Given the description of an element on the screen output the (x, y) to click on. 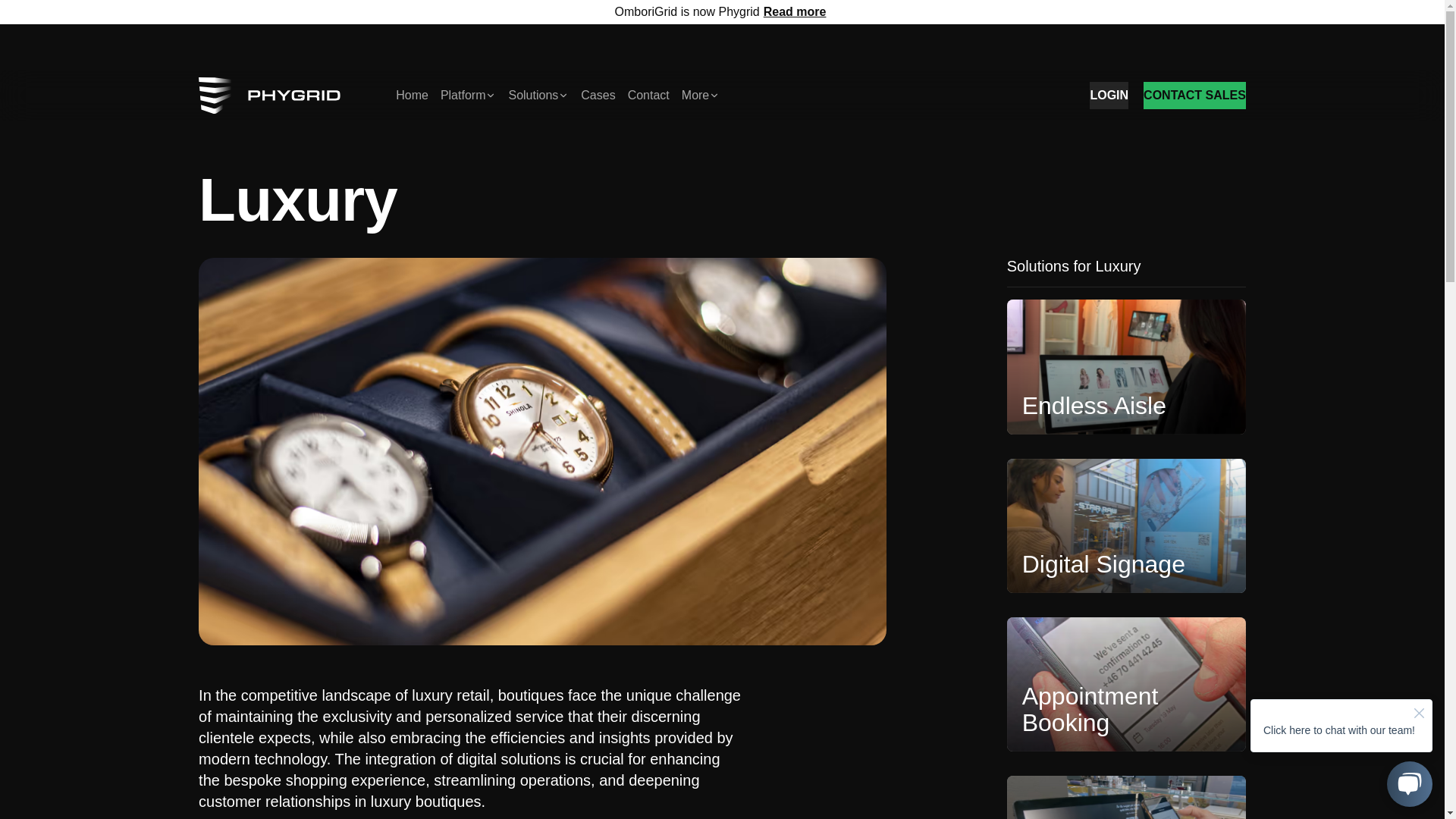
More (700, 95)
Endless Aisle (1126, 366)
Platform (468, 95)
LOGIN (1108, 94)
Solutions (538, 95)
Home (412, 95)
Contact (648, 95)
Cases (597, 95)
